Given the description of an element on the screen output the (x, y) to click on. 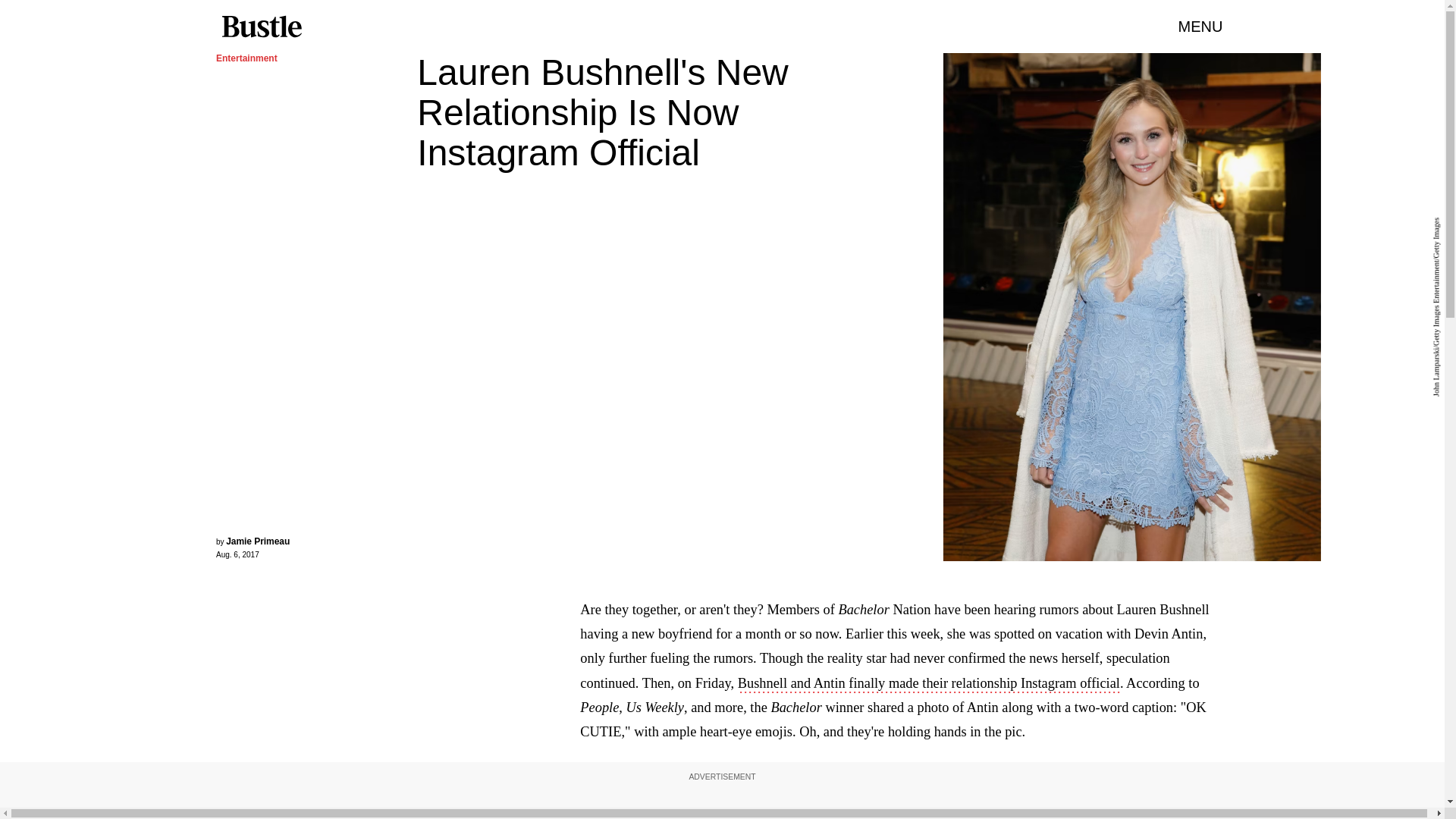
Jamie Primeau (257, 541)
Bustle (261, 26)
